Given the description of an element on the screen output the (x, y) to click on. 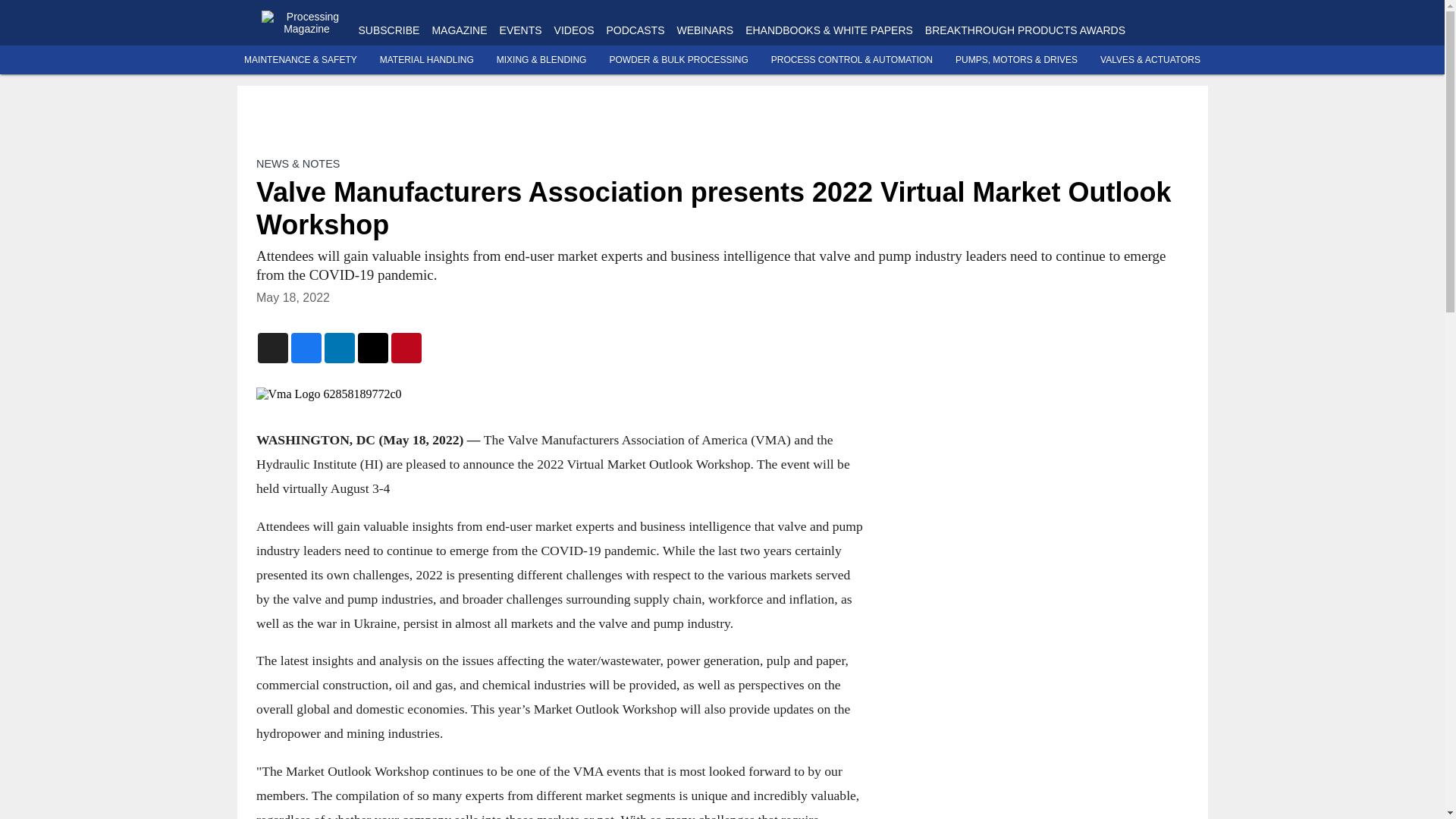
EVENTS (520, 30)
PODCASTS (634, 30)
BREAKTHROUGH PRODUCTS AWARDS (1024, 30)
MAGAZINE (458, 30)
Vma Logo 62858189772c0 (560, 394)
WEBINARS (705, 30)
VIDEOS (574, 30)
SUBSCRIBE (388, 30)
MATERIAL HANDLING (427, 59)
